Given the description of an element on the screen output the (x, y) to click on. 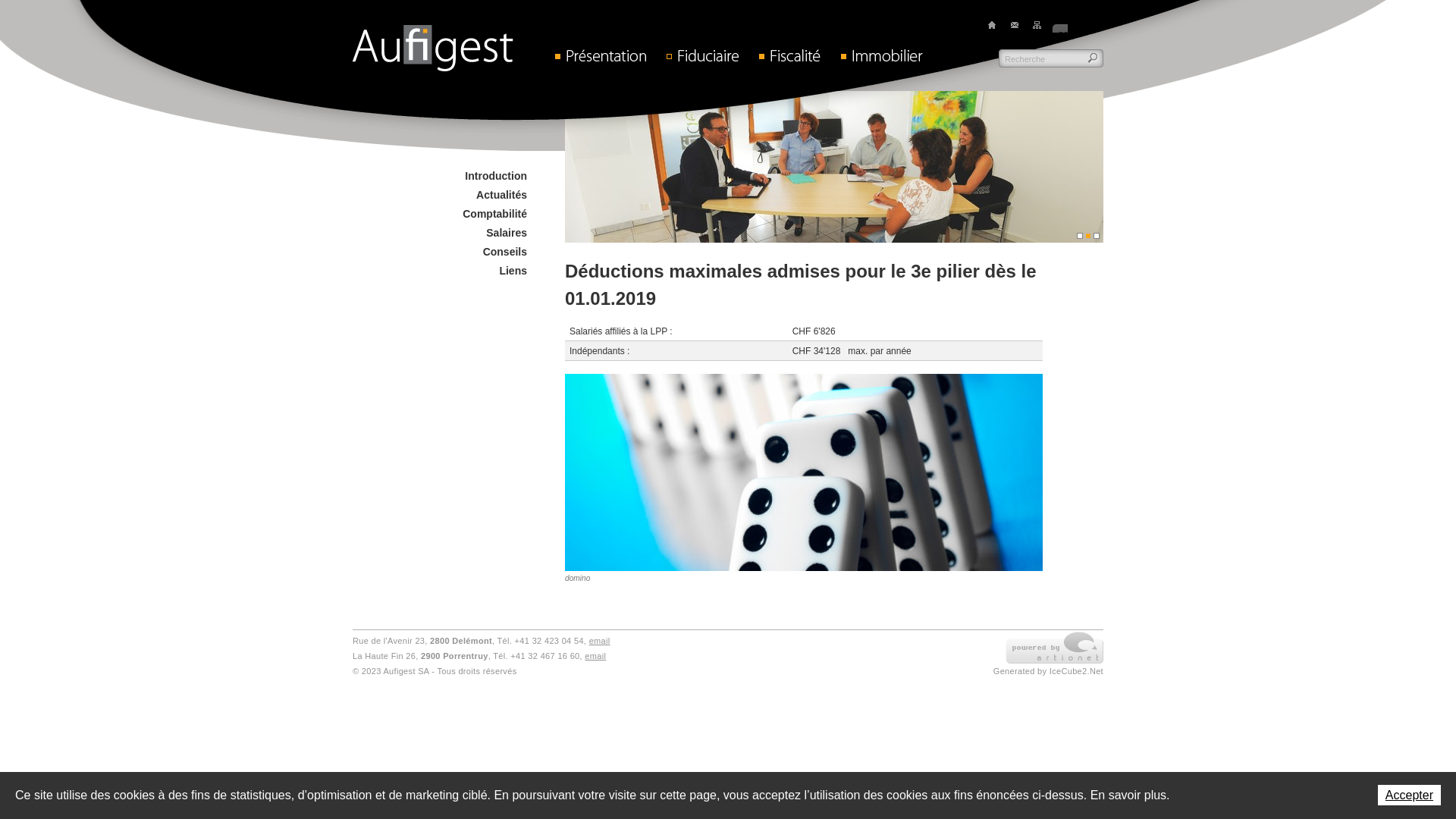
contact Element type: text (1014, 24)
accueil Element type: text (991, 24)
Immobilier Element type: text (889, 55)
email Element type: text (594, 655)
domino Element type: hover (803, 478)
Generated by IceCube2.Net Element type: text (1048, 670)
Salaires Element type: text (501, 232)
Aufigest SA Element type: text (432, 48)
Fiduciaire Element type: text (710, 55)
Conseils Element type: text (500, 251)
Liens Element type: text (508, 270)
sitemap Element type: text (1036, 24)
Rechercher Element type: text (1093, 58)
Accepter Element type: text (1408, 794)
email Element type: text (599, 640)
Introduction Element type: text (491, 175)
